Given the description of an element on the screen output the (x, y) to click on. 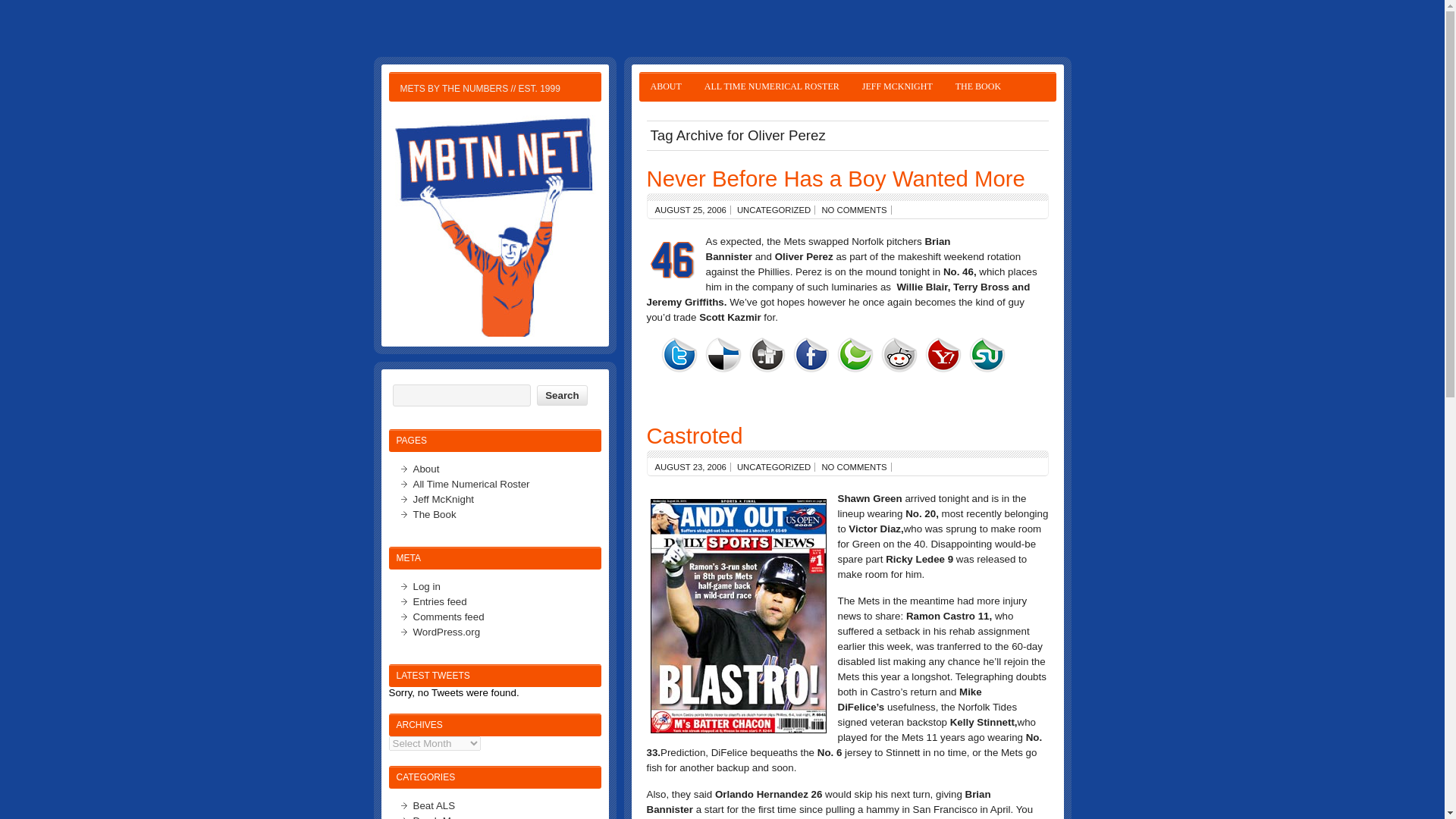
StumbleUpon (991, 354)
Facebook (811, 354)
Reddit (898, 354)
THE BOOK (977, 86)
Yahoo Buzz (946, 354)
del.icio.us (722, 354)
Digg (767, 354)
Twitter (682, 354)
Yahoo Buzz (942, 354)
del.icio.us (726, 354)
